Given the description of an element on the screen output the (x, y) to click on. 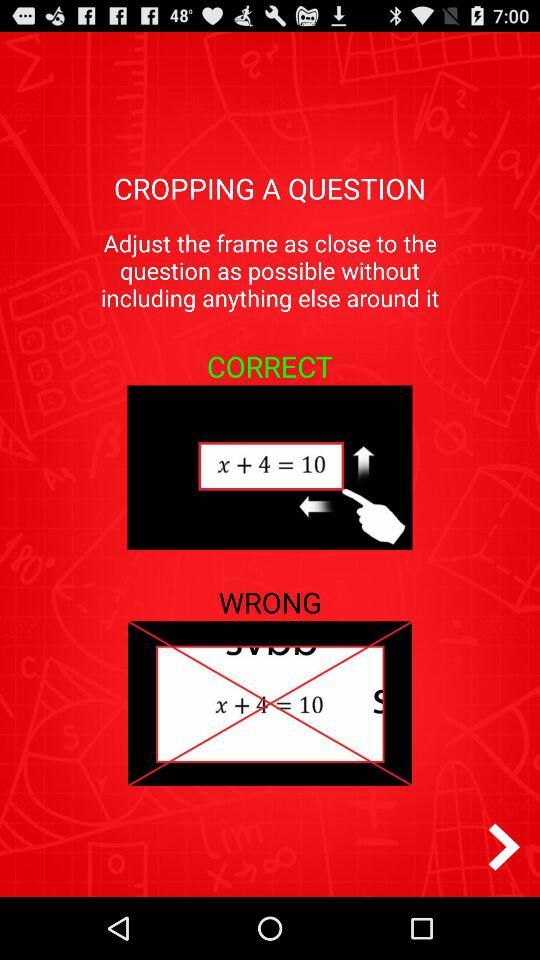
tap the icon at the bottom right corner (504, 846)
